Given the description of an element on the screen output the (x, y) to click on. 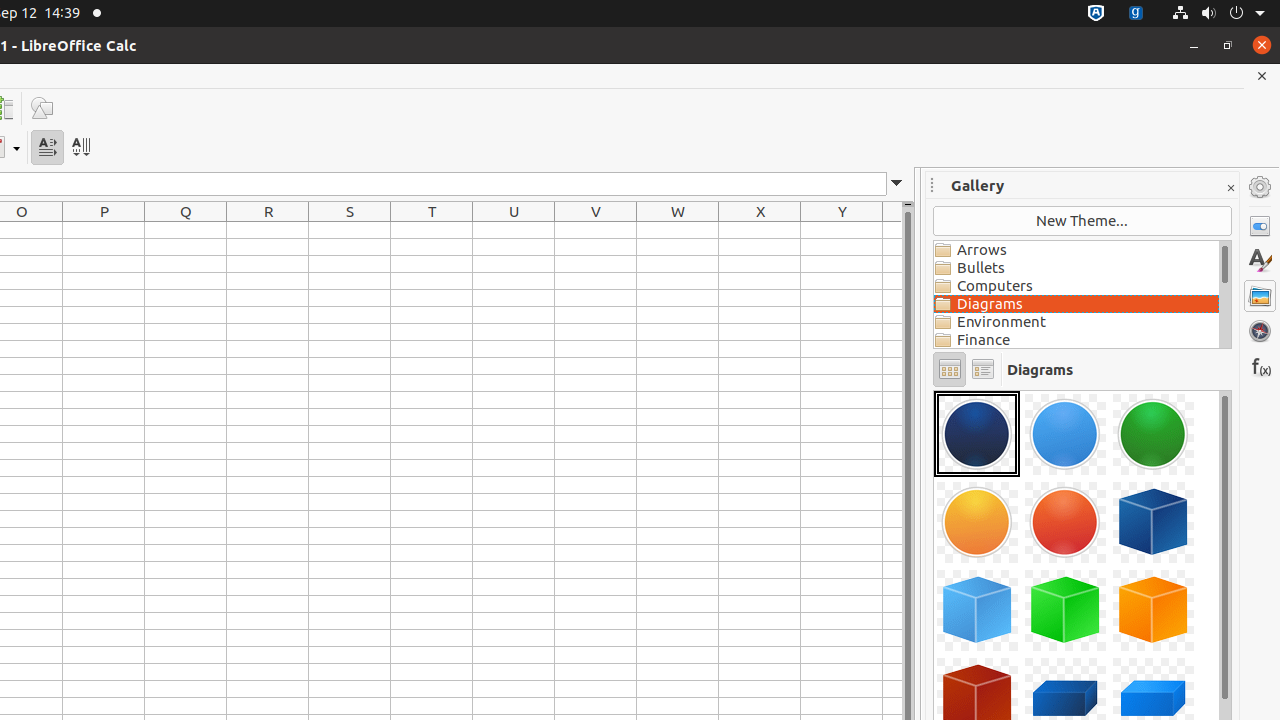
Component-Cube01-DarkBlue Element type: list-item (1153, 522)
Diagrams Element type: list-item (1076, 304)
Draw Functions Element type: toggle-button (41, 108)
X1 Element type: table-cell (760, 230)
